Given the description of an element on the screen output the (x, y) to click on. 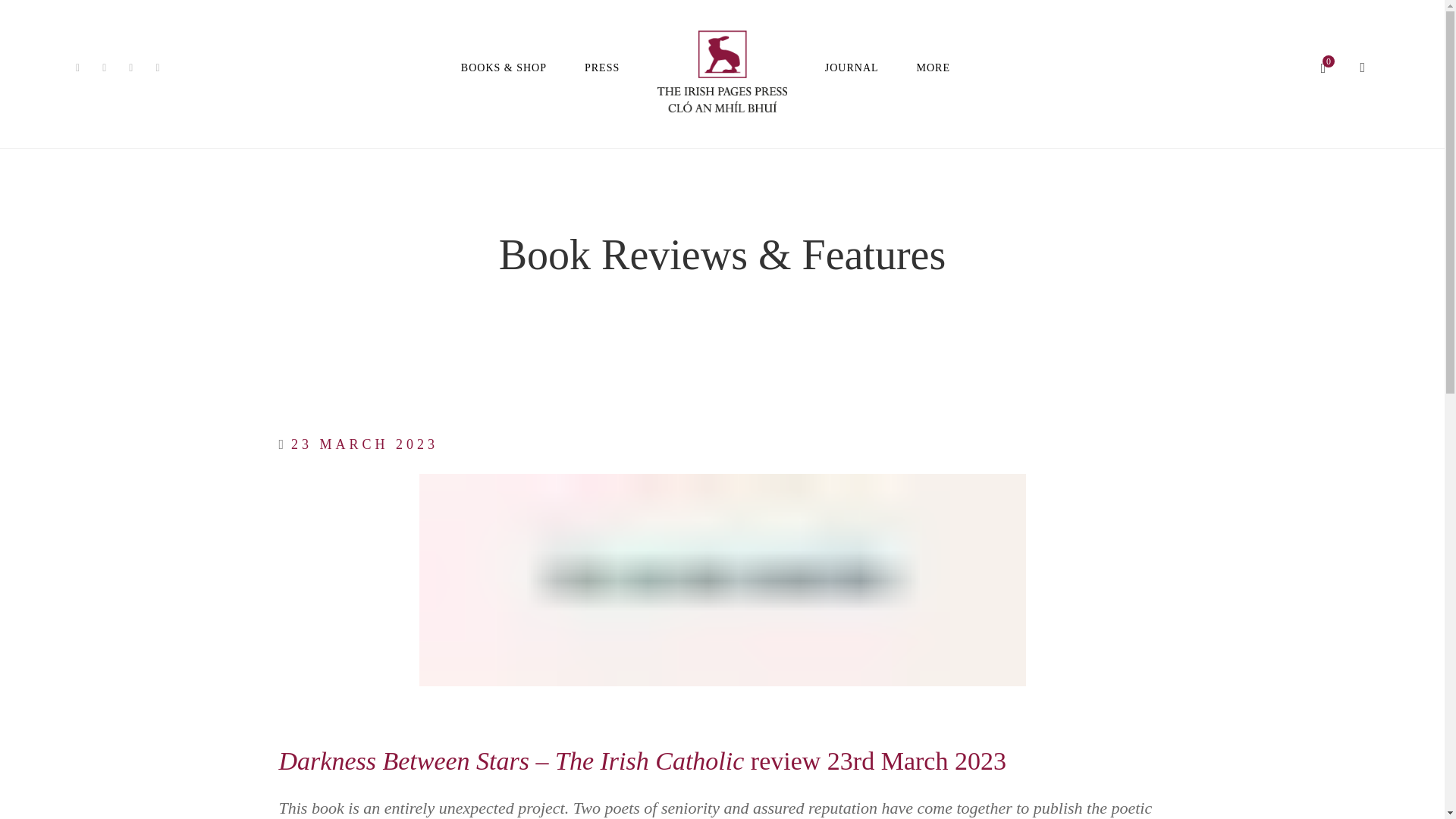
JOURNAL (852, 68)
PRESS (602, 68)
